Given the description of an element on the screen output the (x, y) to click on. 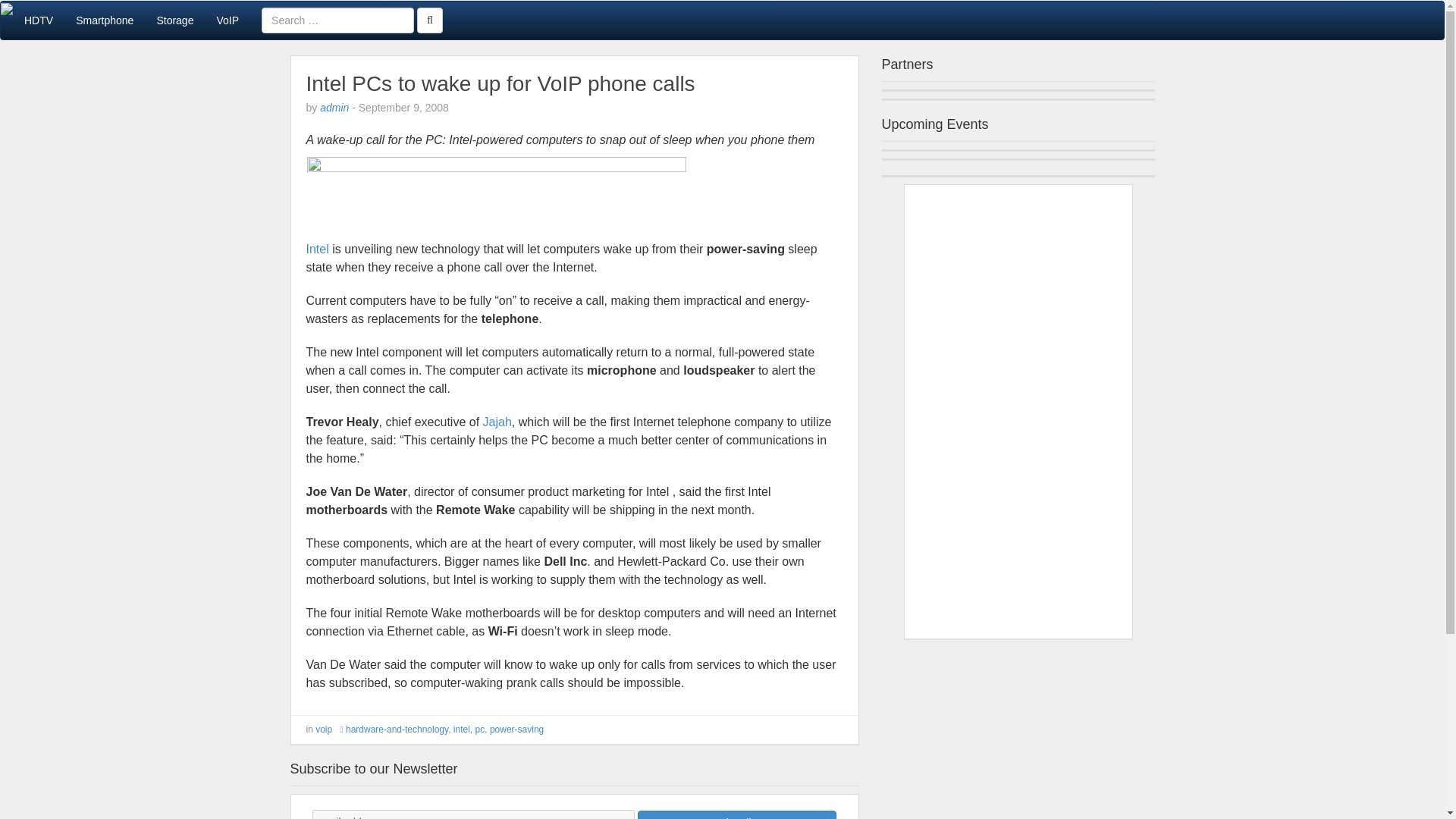
Subscribe (736, 814)
power-saving (516, 728)
Intel PCs to wake up for VoIP phone calls (500, 83)
Posts by admin (334, 107)
voip (323, 728)
Intel PCs to wake up for VoIP phone calls (500, 83)
HDTV (38, 20)
Smartphone (104, 20)
Jajah (497, 421)
VoIP (227, 20)
